Given the description of an element on the screen output the (x, y) to click on. 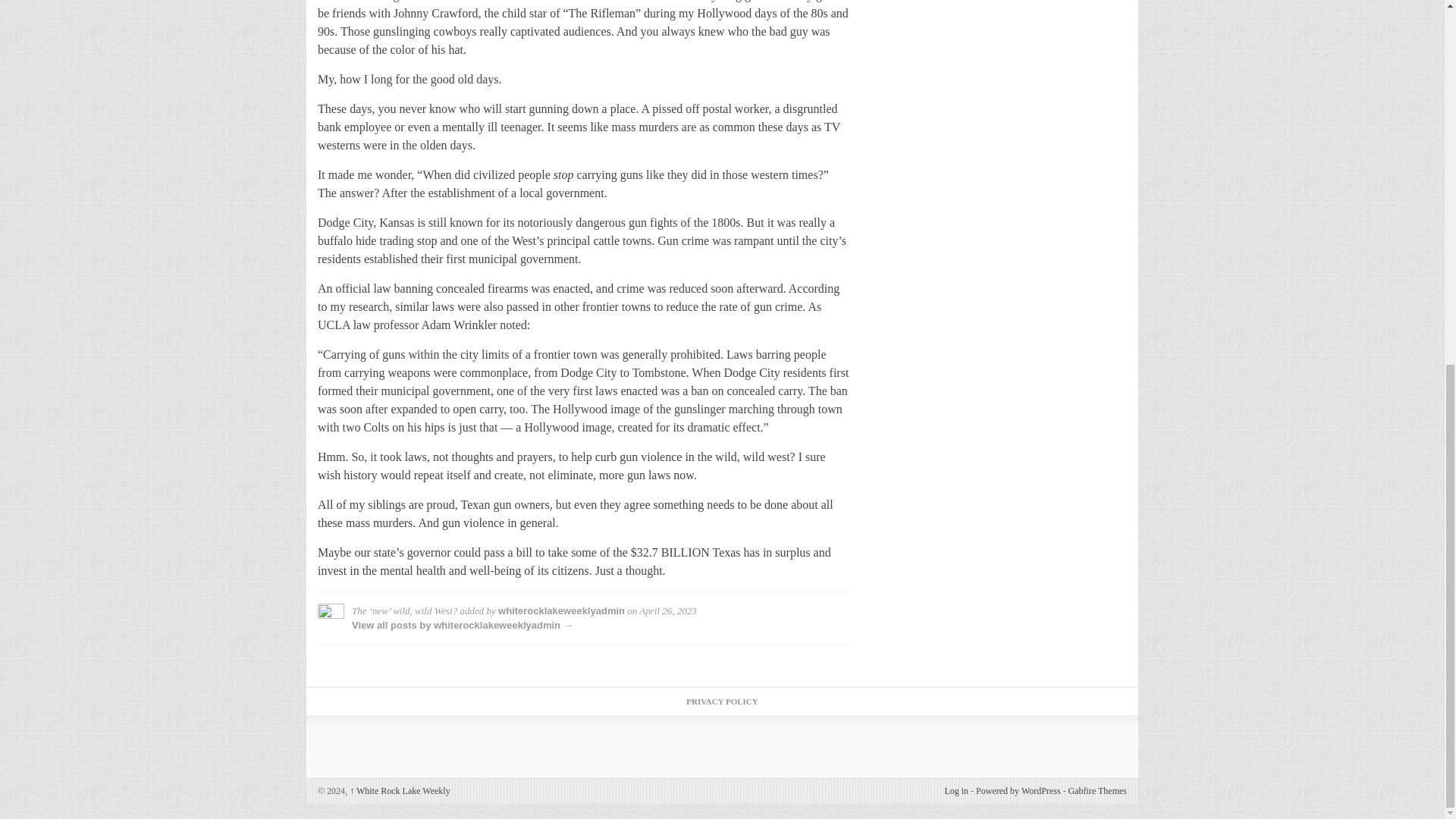
Semantic Personal Publishing Platform (1017, 790)
whiterocklakeweeklyadmin (560, 610)
WordPress Newspaper Themes (1097, 790)
PRIVACY POLICY (721, 700)
White Rock Lake Weekly (399, 790)
